Given the description of an element on the screen output the (x, y) to click on. 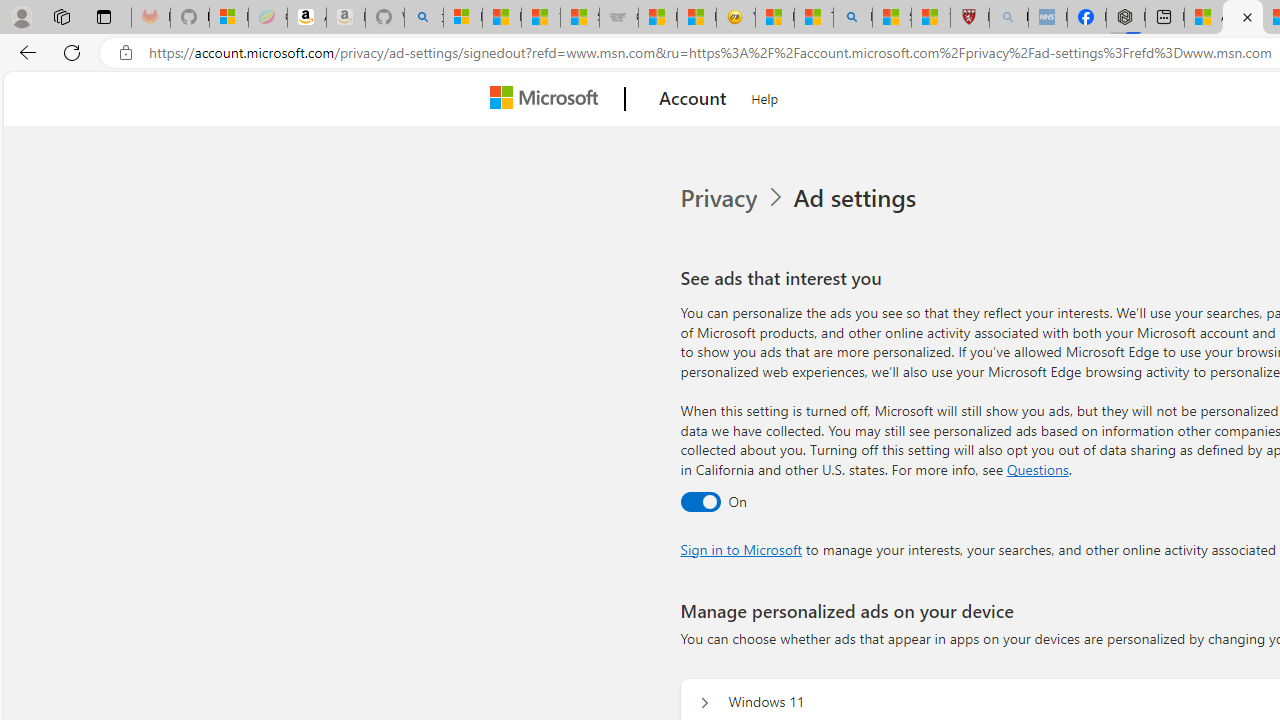
Sign in to Microsoft (740, 548)
Bing (852, 17)
Go to Questions section (1037, 468)
